Given the description of an element on the screen output the (x, y) to click on. 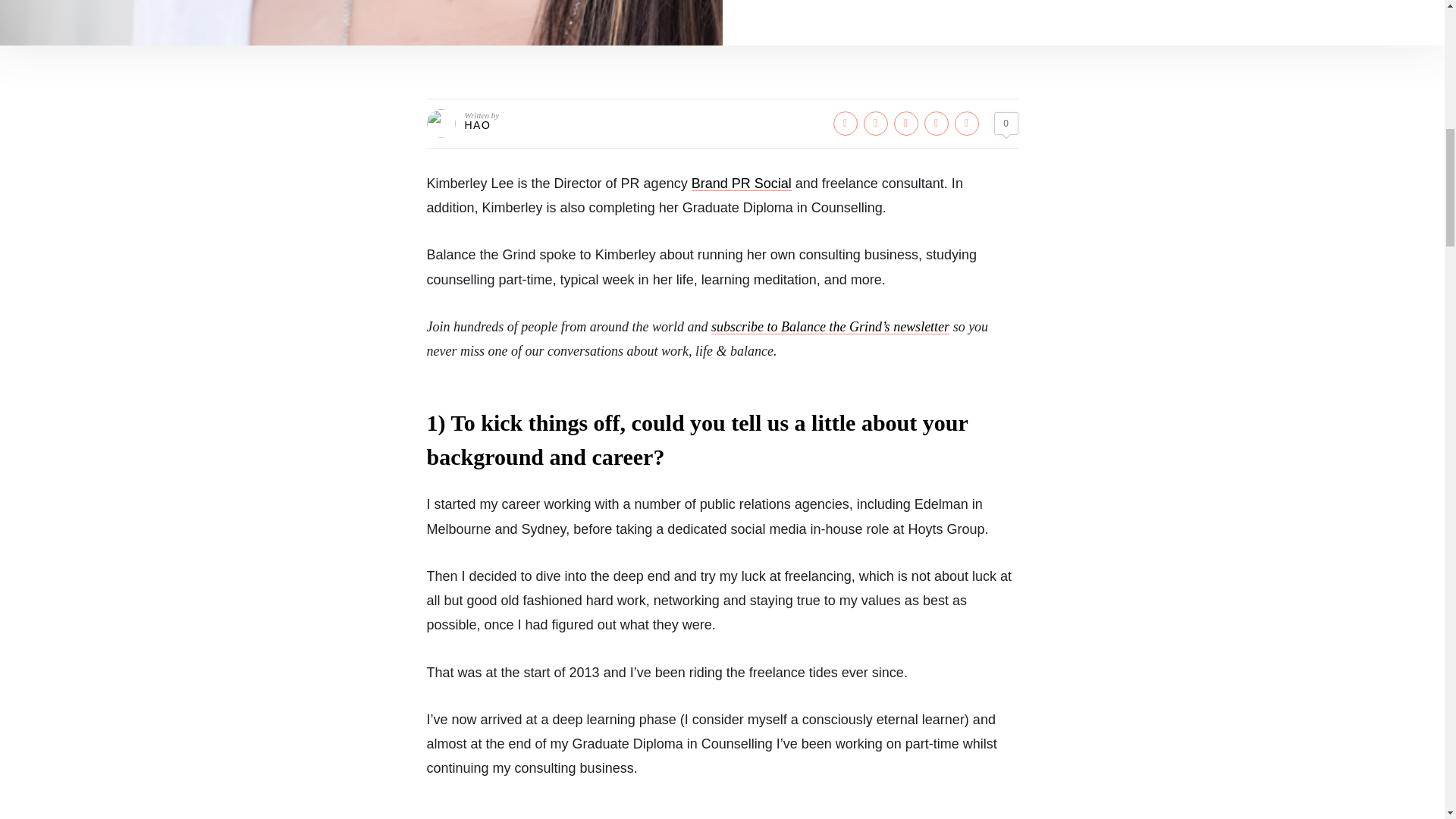
Posts by hao (477, 124)
